Given the description of an element on the screen output the (x, y) to click on. 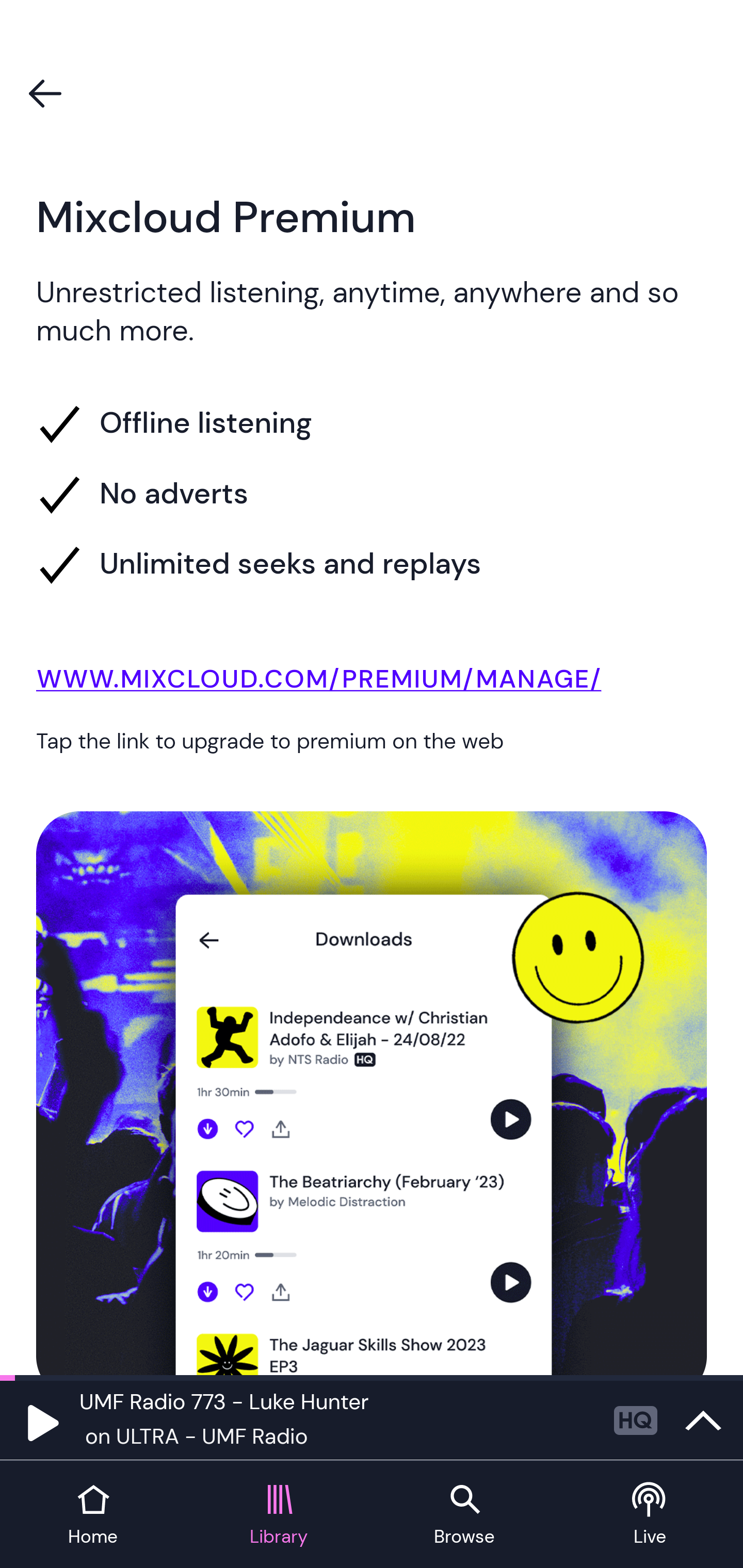
WWW.MIXCLOUD.COM/PREMIUM/MANAGE/ (371, 682)
Home tab Home (92, 1515)
Library tab Library (278, 1515)
Browse tab Browse (464, 1515)
Live tab Live (650, 1515)
